Given the description of an element on the screen output the (x, y) to click on. 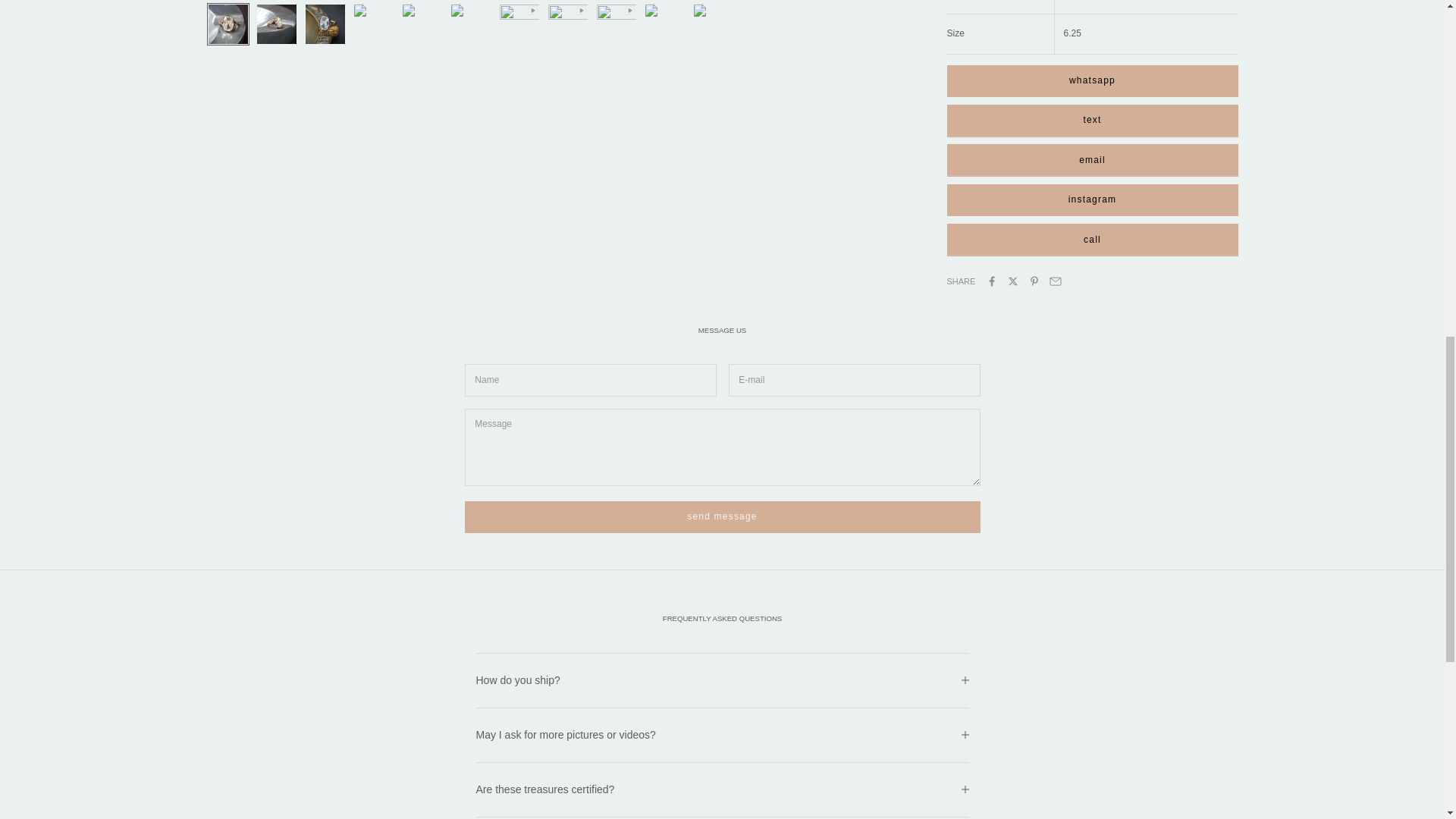
whatsapp (1091, 81)
email (1091, 160)
text (1091, 120)
instagram (1091, 200)
call (1091, 239)
send message (721, 517)
